Given the description of an element on the screen output the (x, y) to click on. 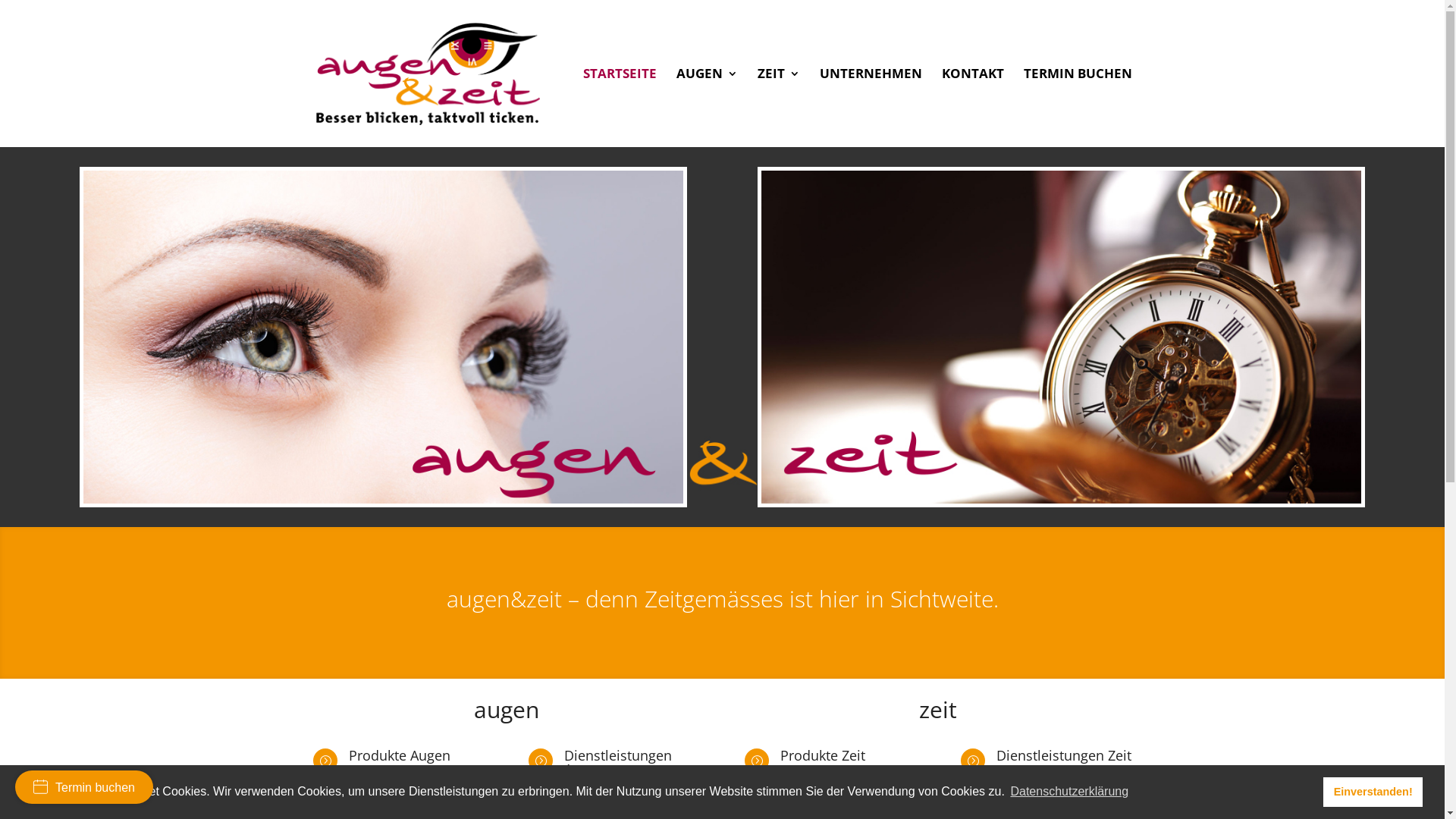
Dienstleistungen Zeit Element type: text (1063, 755)
Dienstleistungen Augen Element type: text (617, 762)
Produkte Augen Element type: text (399, 755)
STARTSEITE Element type: text (618, 107)
KONTAKT Element type: text (972, 107)
Einverstanden! Element type: text (1372, 791)
UNTERNEHMEN Element type: text (870, 107)
= Element type: text (756, 760)
= Element type: text (972, 760)
Termin buchen Element type: text (84, 786)
ZEIT Element type: text (777, 107)
AUGEN Element type: text (706, 107)
= Element type: text (324, 760)
= Element type: text (540, 760)
Produkte Zeit Element type: text (822, 755)
TERMIN BUCHEN Element type: text (1077, 107)
